Given the description of an element on the screen output the (x, y) to click on. 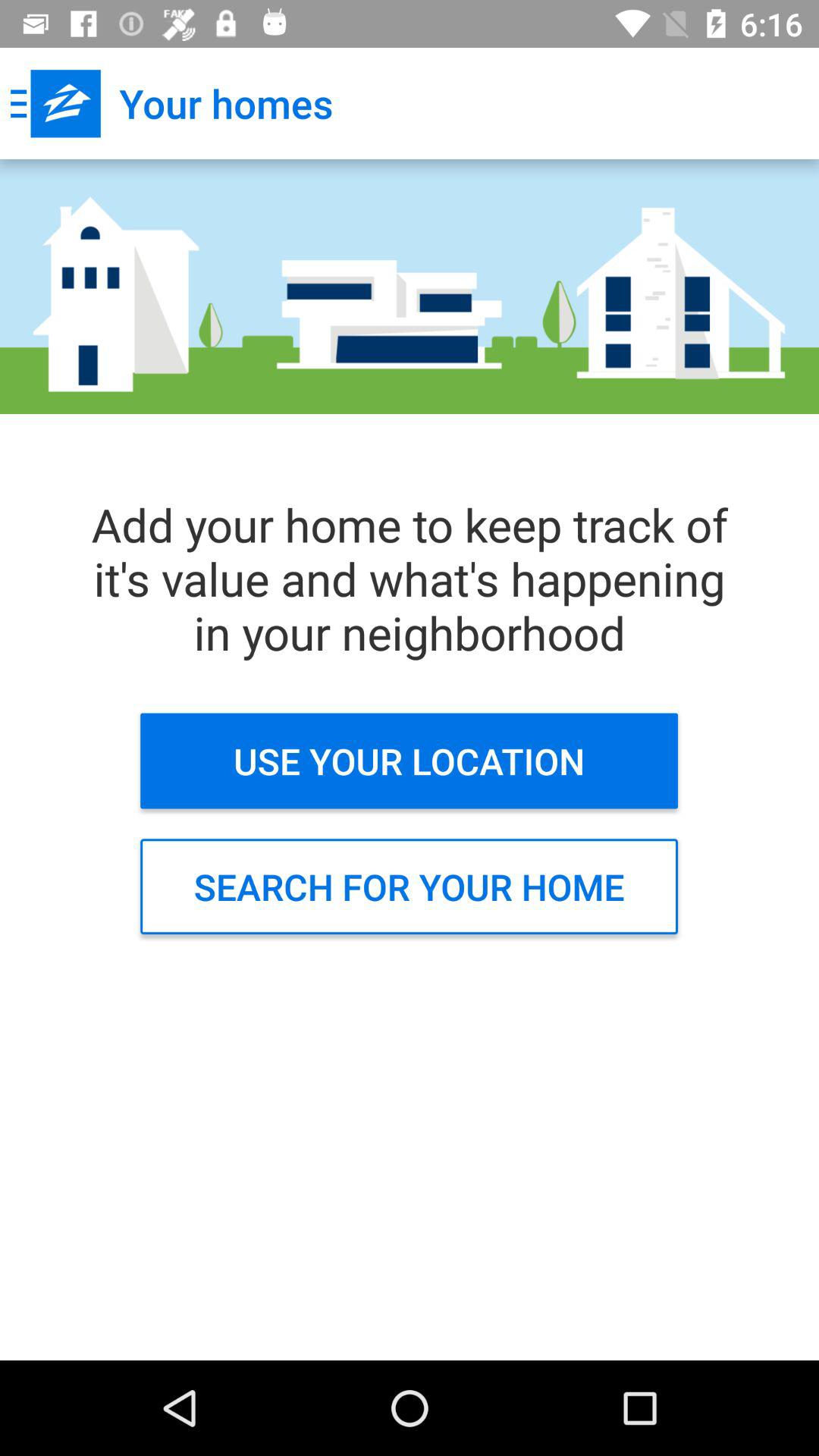
tap the icon above search for your item (408, 760)
